Given the description of an element on the screen output the (x, y) to click on. 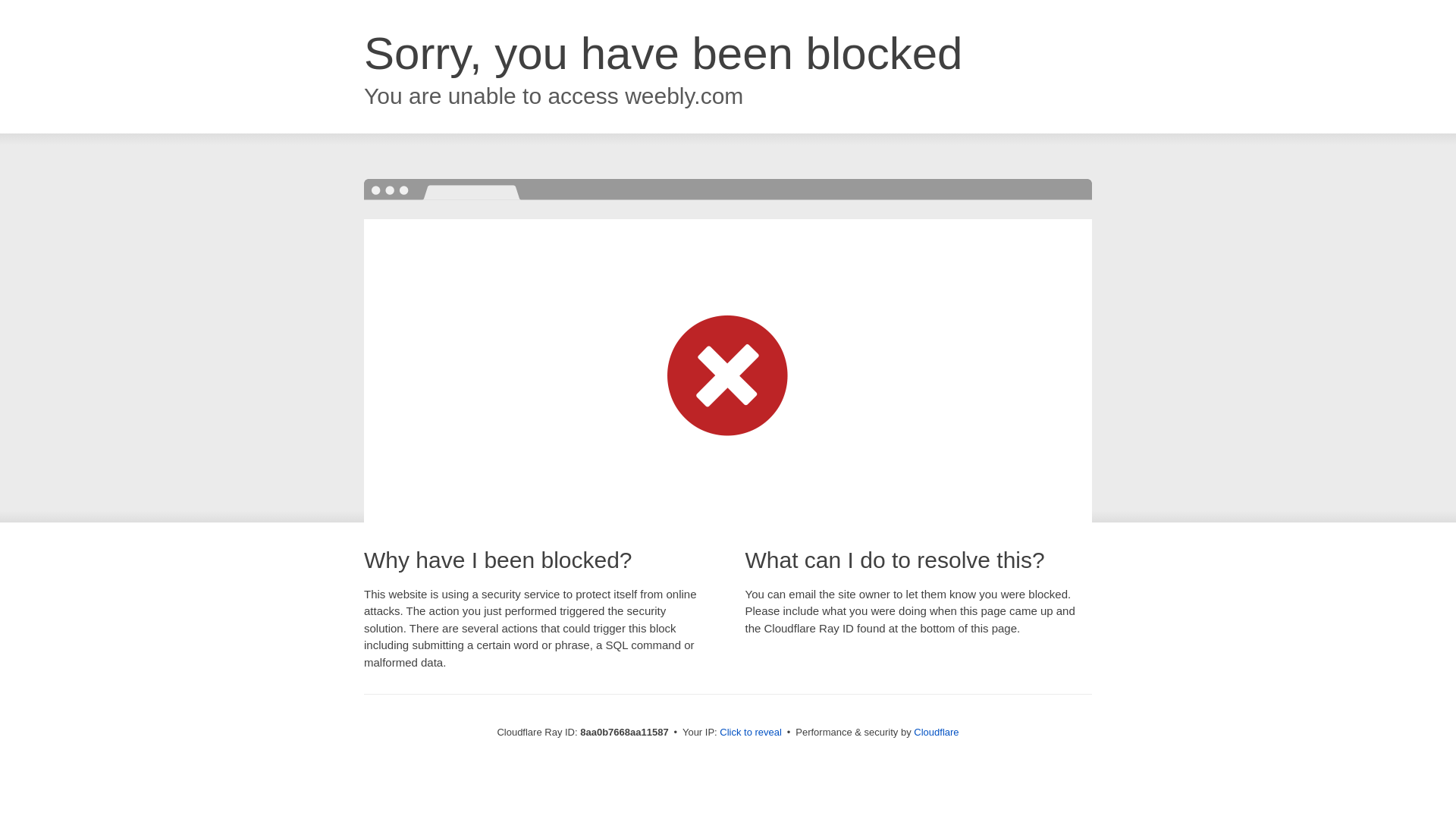
Cloudflare (936, 731)
Click to reveal (750, 732)
